Given the description of an element on the screen output the (x, y) to click on. 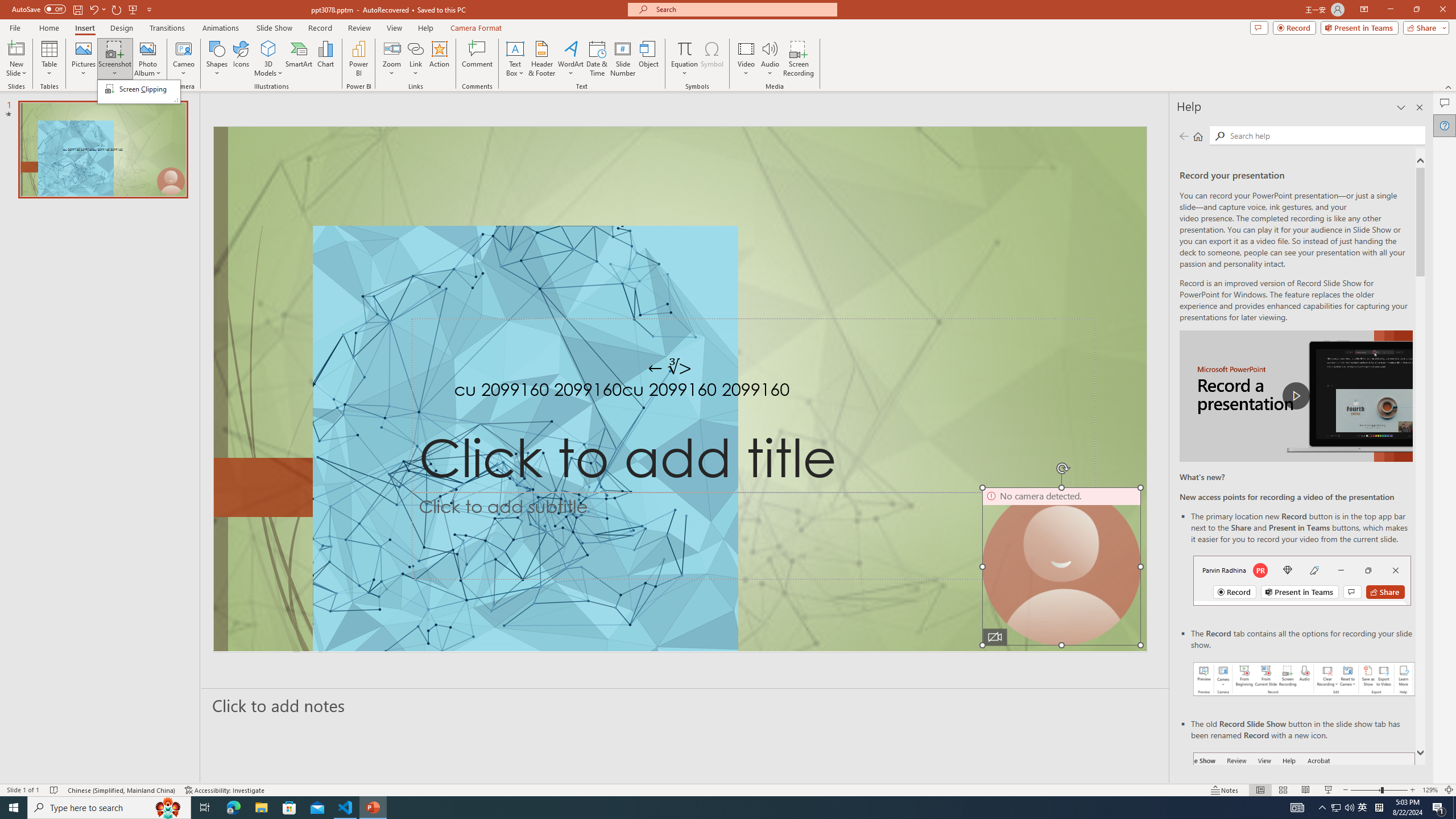
Icons (240, 58)
Symbol... (711, 58)
Table (49, 58)
Slide Number (622, 58)
Video (745, 58)
